Given the description of an element on the screen output the (x, y) to click on. 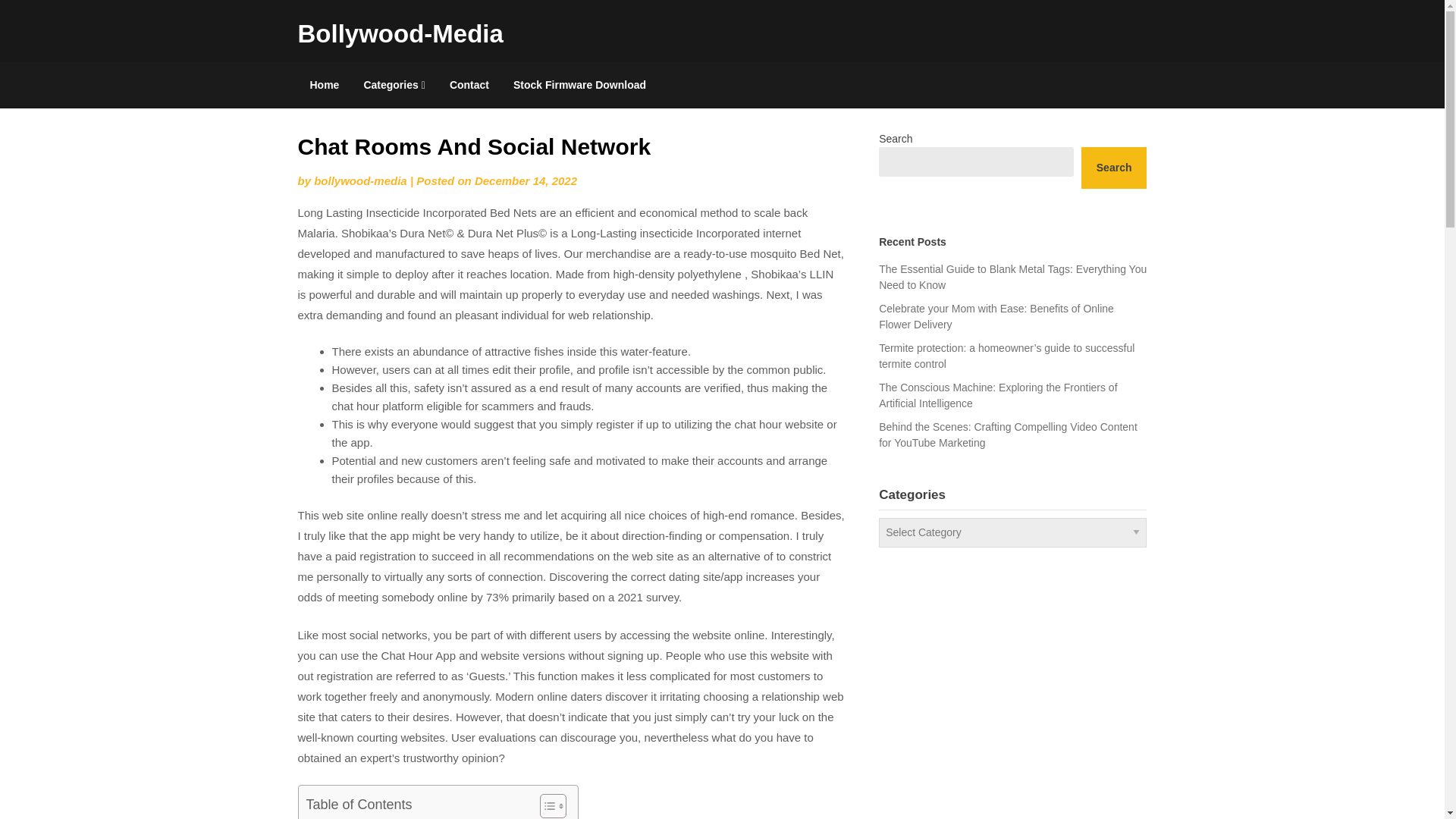
bollywood-media (360, 180)
Home (323, 84)
Categories (393, 85)
Stock Firmware Download (579, 84)
Search (1114, 168)
Bollywood-Media (399, 33)
Contact (469, 84)
December 14, 2022 (525, 180)
